Given the description of an element on the screen output the (x, y) to click on. 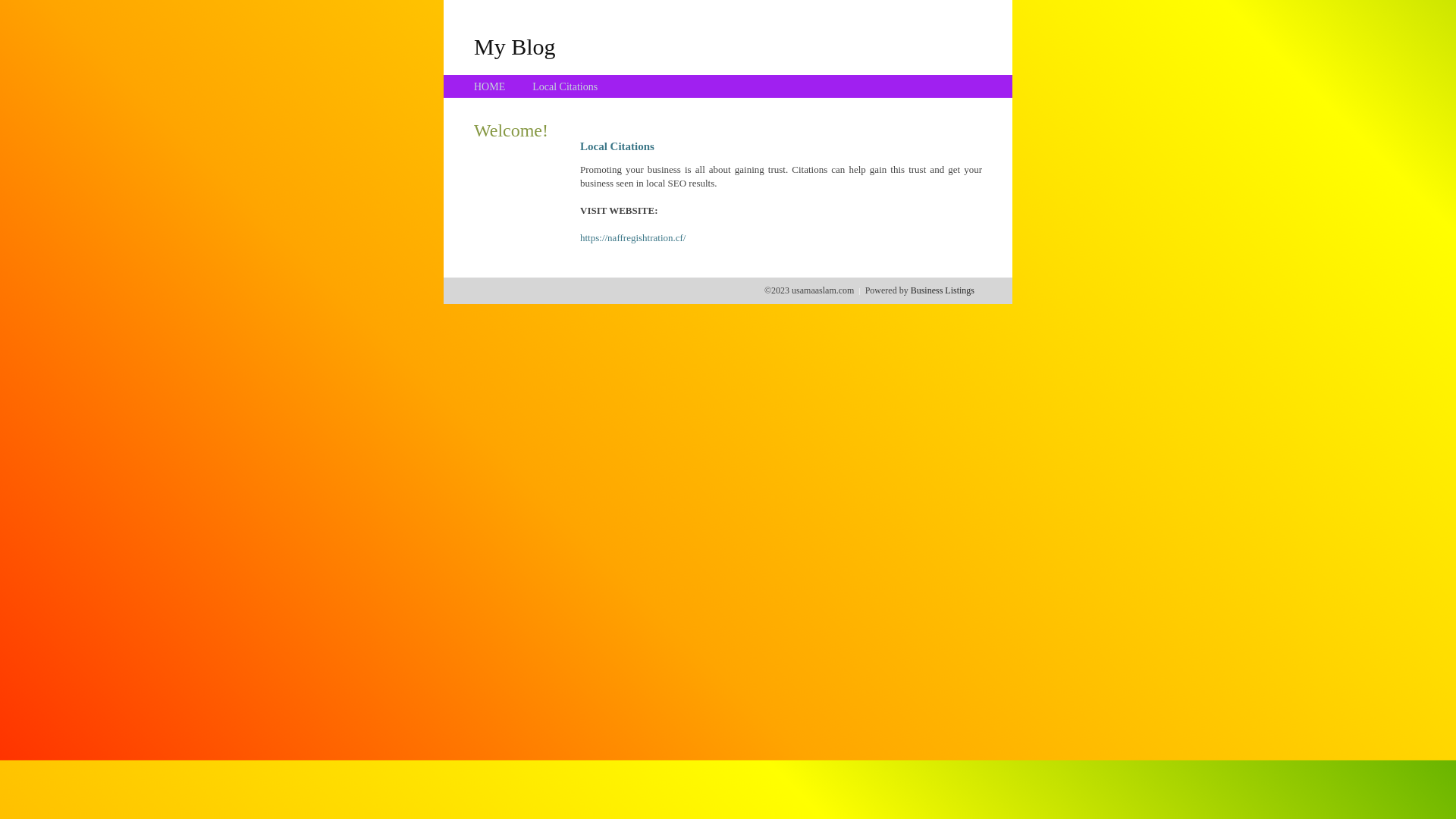
Business Listings Element type: text (942, 290)
Local Citations Element type: text (564, 86)
HOME Element type: text (489, 86)
My Blog Element type: text (514, 46)
https://naffregishtration.cf/ Element type: text (632, 237)
